Given the description of an element on the screen output the (x, y) to click on. 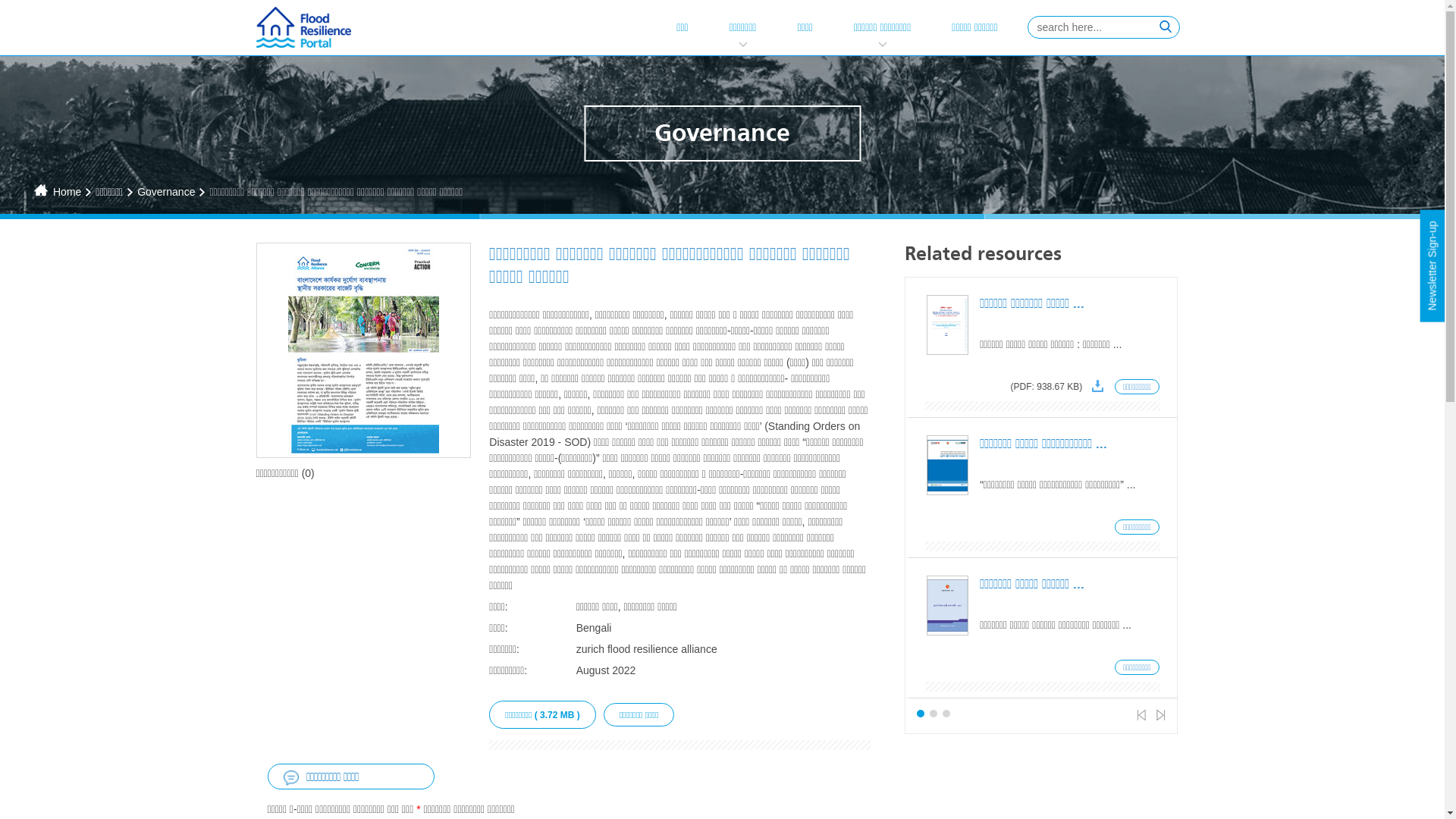
Governance Element type: text (165, 191)
Home Element type: text (67, 191)
Search Element type: text (1160, 24)
